Given the description of an element on the screen output the (x, y) to click on. 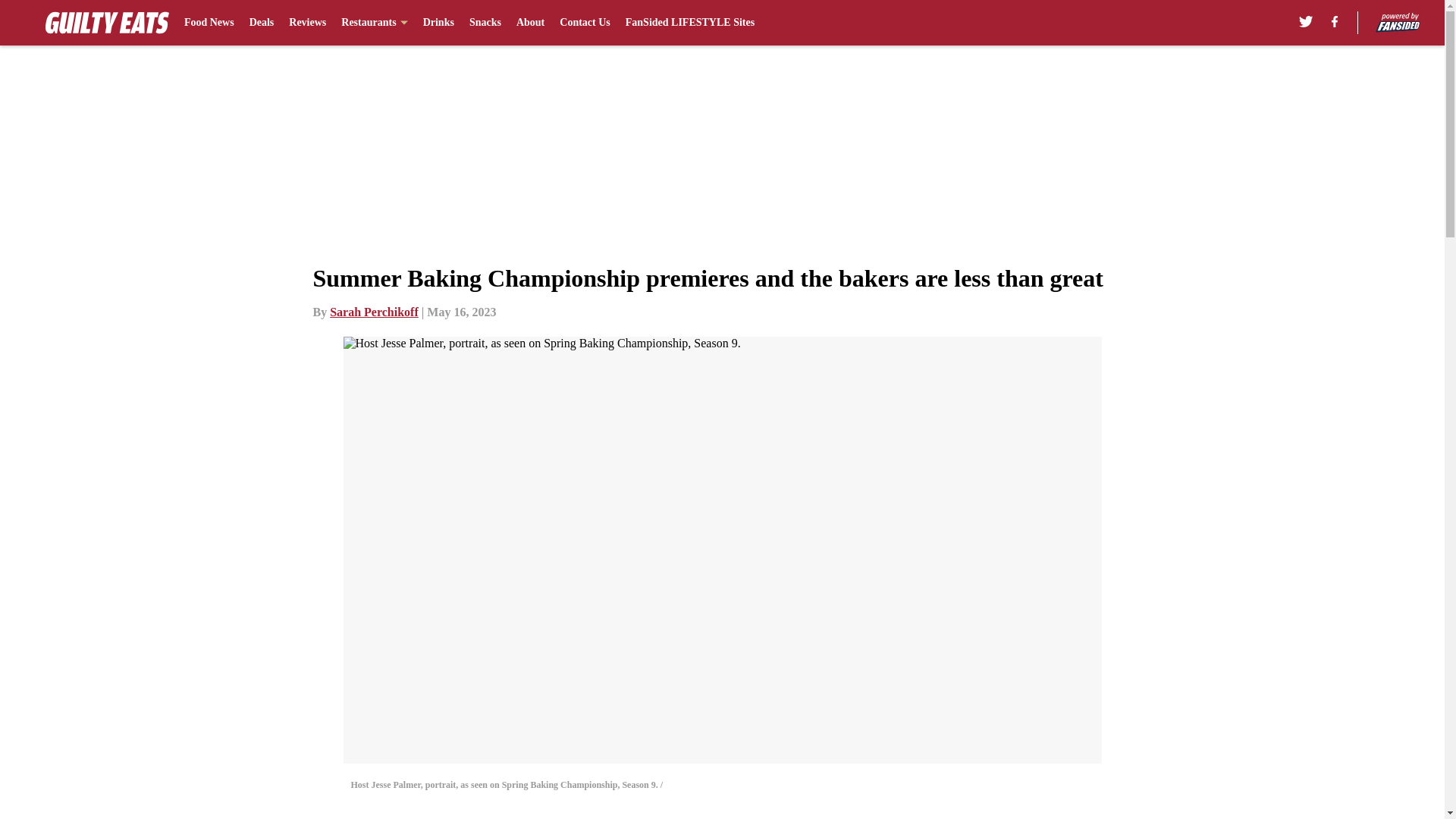
Food News (209, 22)
Snacks (484, 22)
Sarah Perchikoff (374, 311)
Contact Us (584, 22)
FanSided LIFESTYLE Sites (690, 22)
Drinks (438, 22)
About (530, 22)
Reviews (307, 22)
Restaurants (373, 22)
